Given the description of an element on the screen output the (x, y) to click on. 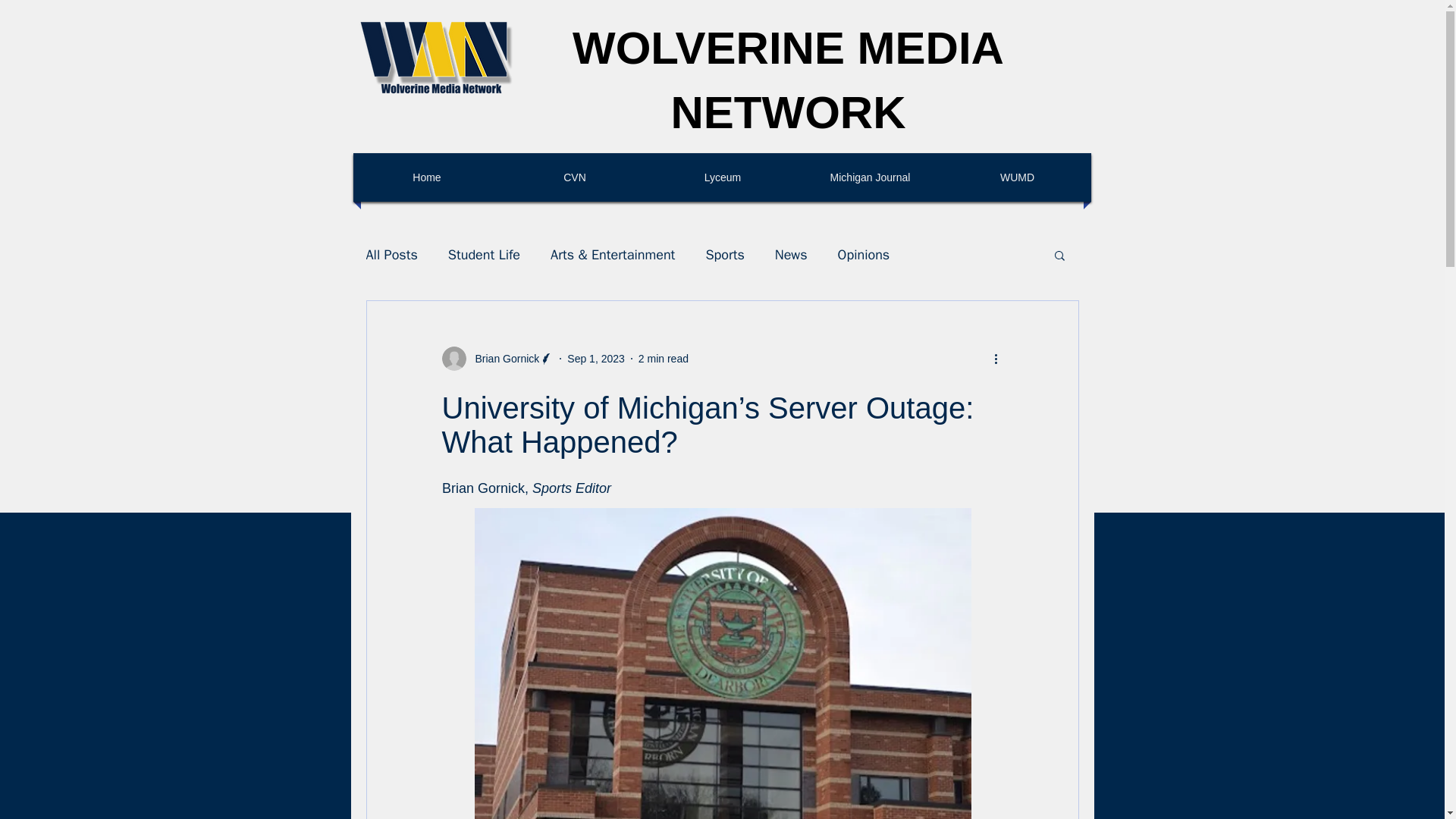
Brian Gornick (501, 358)
CVN (575, 177)
Home (426, 177)
2 min read (663, 358)
WUMD (1017, 177)
Student Life (483, 254)
Brian Gornick (497, 358)
All Posts (390, 254)
Sports (724, 254)
Lyceum (722, 177)
Sep 1, 2023 (595, 358)
Michigan Journal (870, 177)
Opinions (863, 254)
News (791, 254)
